Given the description of an element on the screen output the (x, y) to click on. 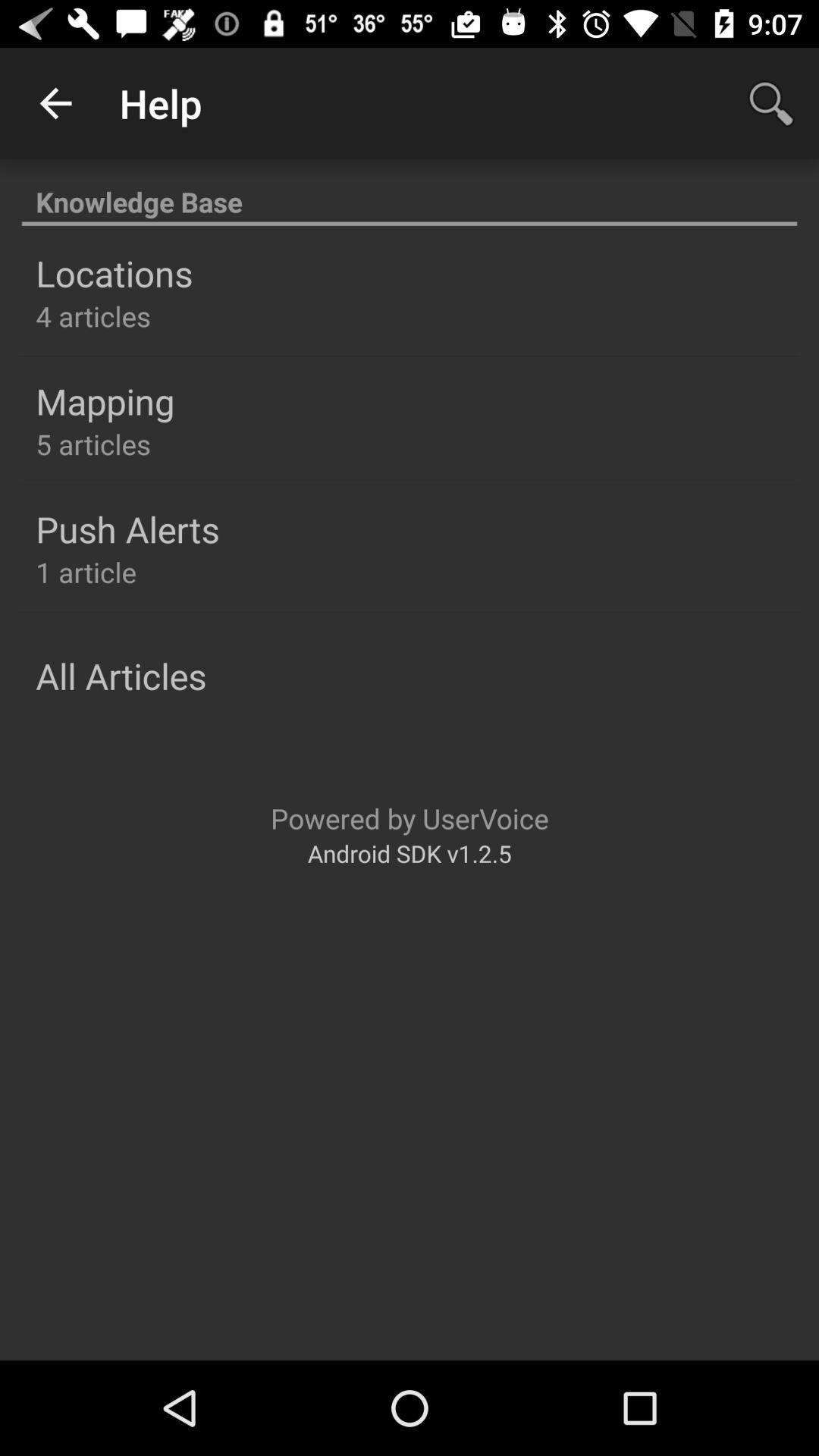
choose android sdk v1 item (409, 853)
